Given the description of an element on the screen output the (x, y) to click on. 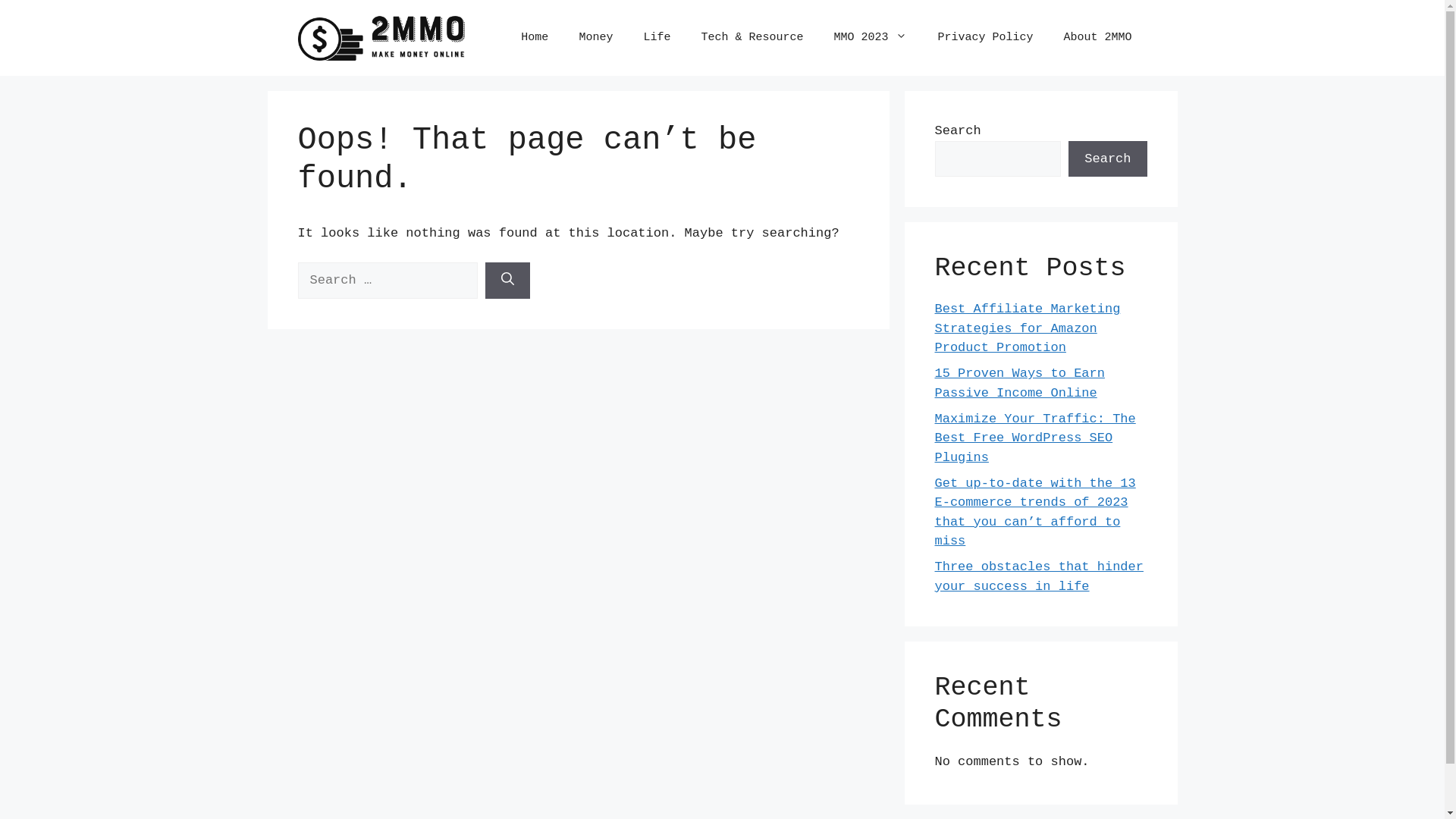
Home Element type: text (534, 37)
Maximize Your Traffic: The Best Free WordPress SEO Plugins Element type: text (1034, 437)
Three obstacles that hinder your success in life Element type: text (1038, 576)
About 2MMO Element type: text (1097, 37)
Money Element type: text (595, 37)
Search for: Element type: hover (386, 280)
Search Element type: text (1107, 159)
Tech & Resource Element type: text (751, 37)
MMO 2023 Element type: text (870, 37)
Life Element type: text (656, 37)
15 Proven Ways to Earn Passive Income Online Element type: text (1019, 383)
Privacy Policy Element type: text (985, 37)
